Given the description of an element on the screen output the (x, y) to click on. 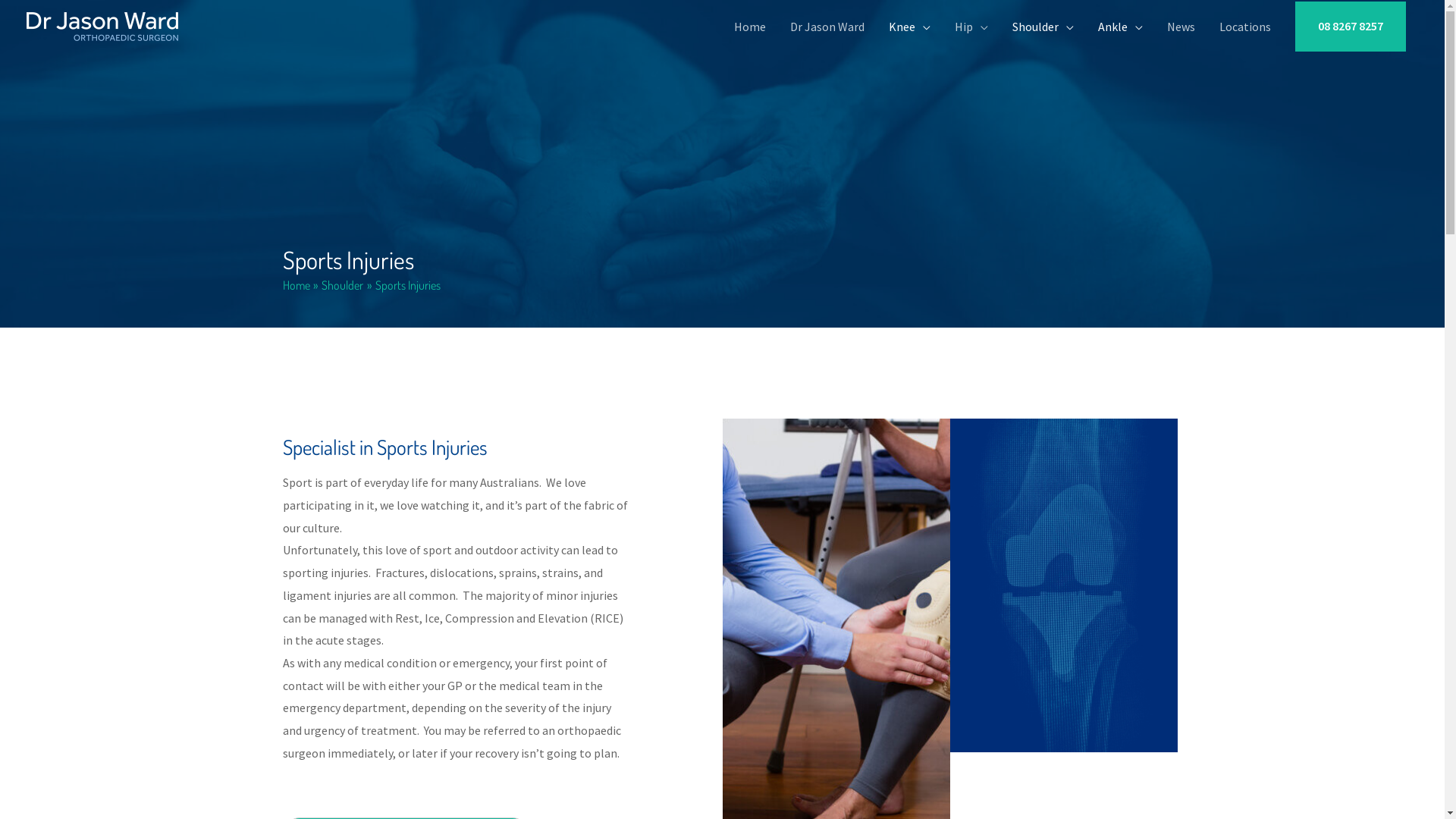
Shoulder Element type: text (1042, 26)
08 8267 8257 Element type: text (1350, 26)
Home Element type: text (295, 284)
Shoulder Element type: text (342, 284)
Hip Element type: text (971, 26)
Knee Element type: text (909, 26)
Locations Element type: text (1245, 26)
Ankle Element type: text (1119, 26)
Dr Jason Ward Element type: text (827, 26)
Home Element type: text (749, 26)
News Element type: text (1180, 26)
